Given the description of an element on the screen output the (x, y) to click on. 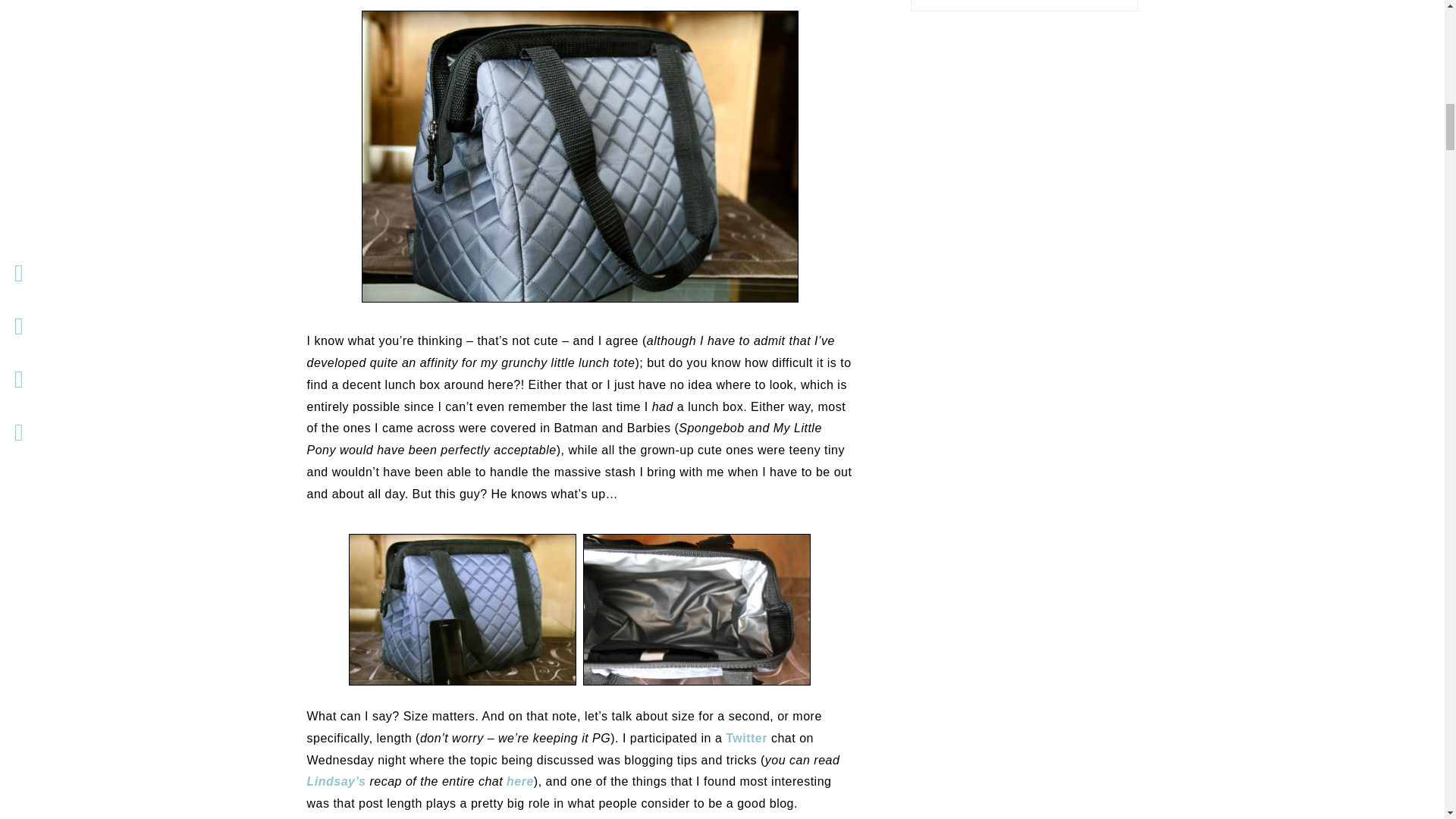
here (520, 780)
Twitter (746, 738)
